Given the description of an element on the screen output the (x, y) to click on. 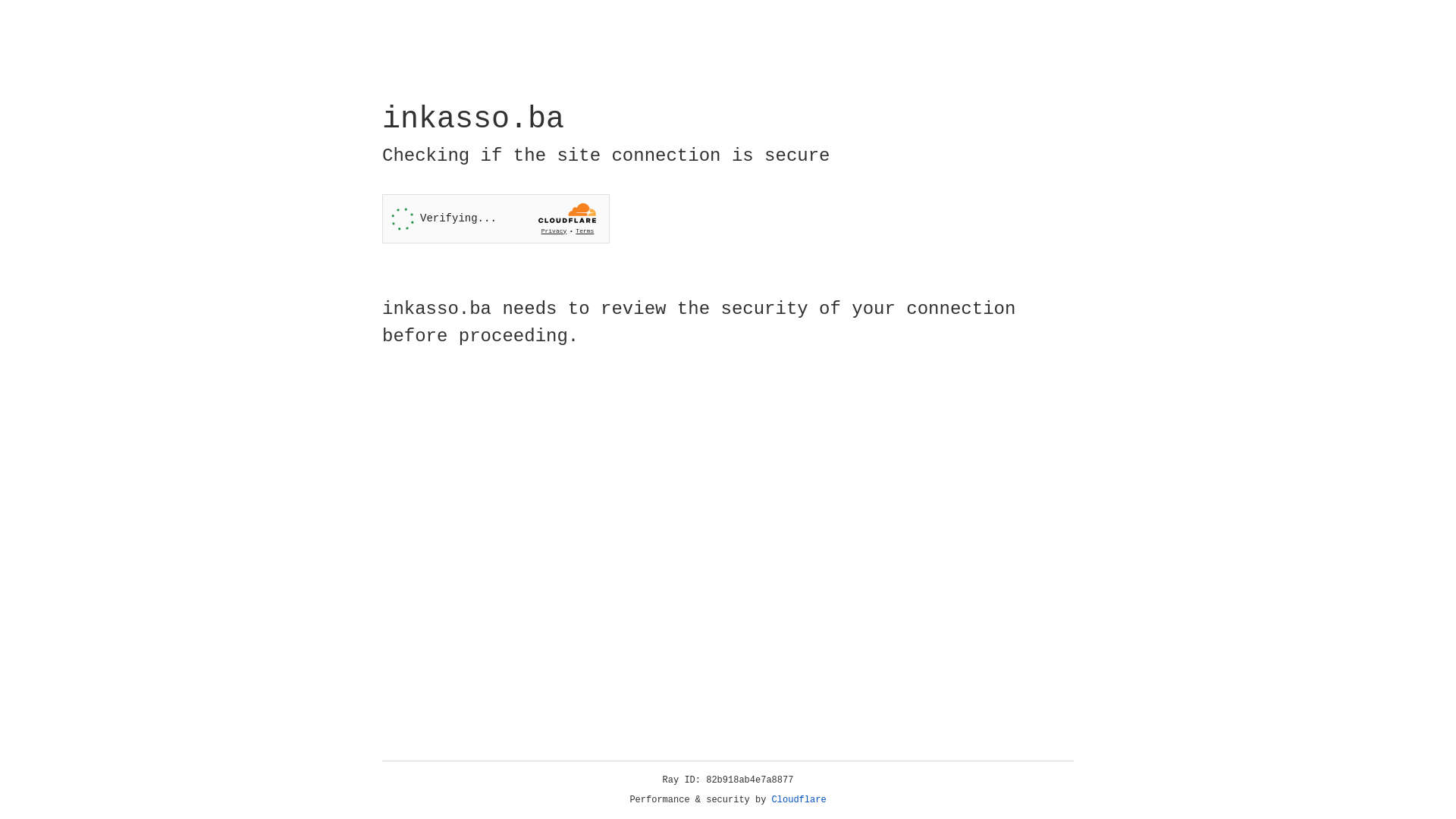
Widget containing a Cloudflare security challenge Element type: hover (495, 218)
Cloudflare Element type: text (798, 799)
